Given the description of an element on the screen output the (x, y) to click on. 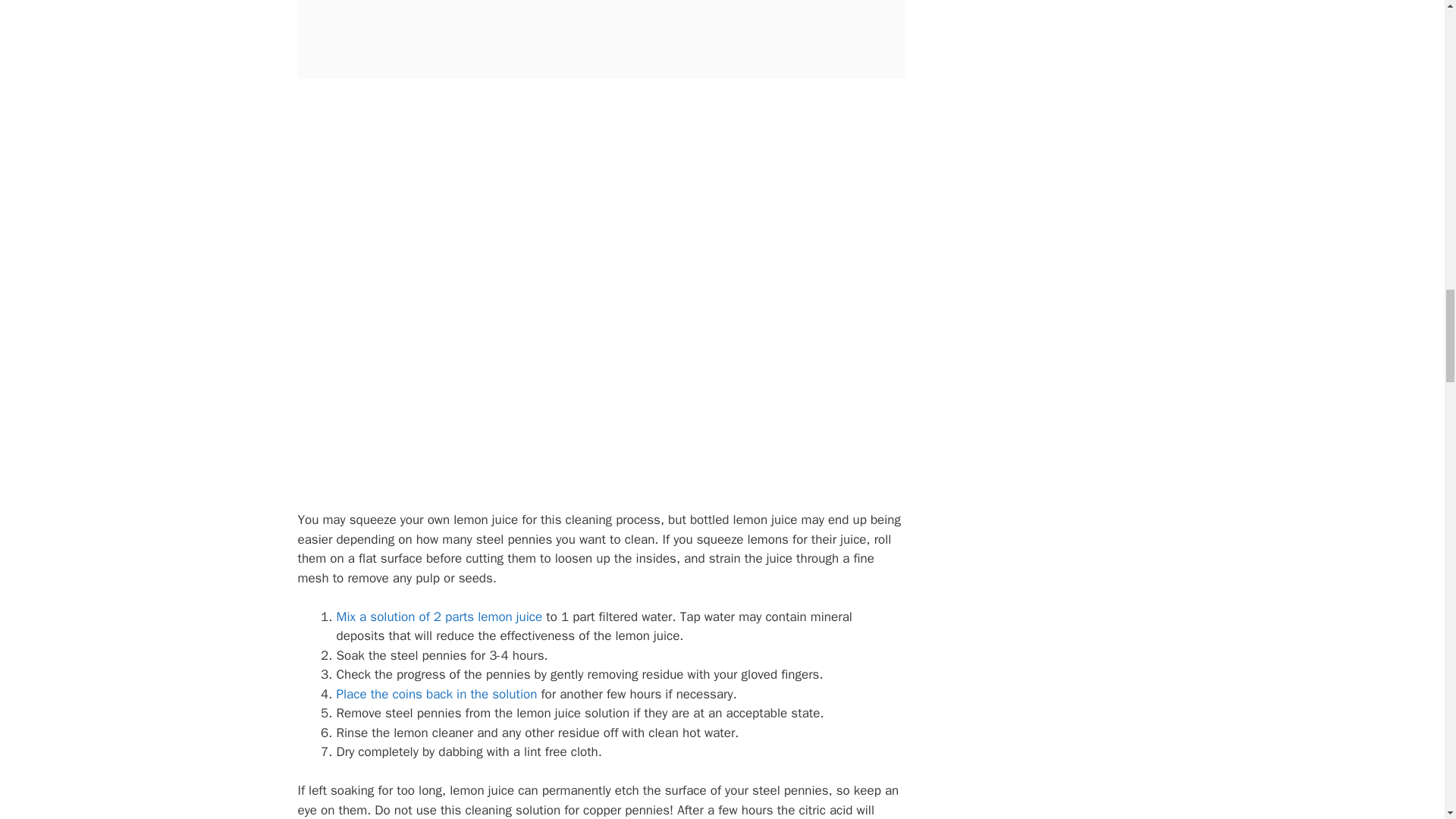
Place the coins back in the solution (436, 693)
Mix a solution of 2 parts lemon juice (439, 616)
